Given the description of an element on the screen output the (x, y) to click on. 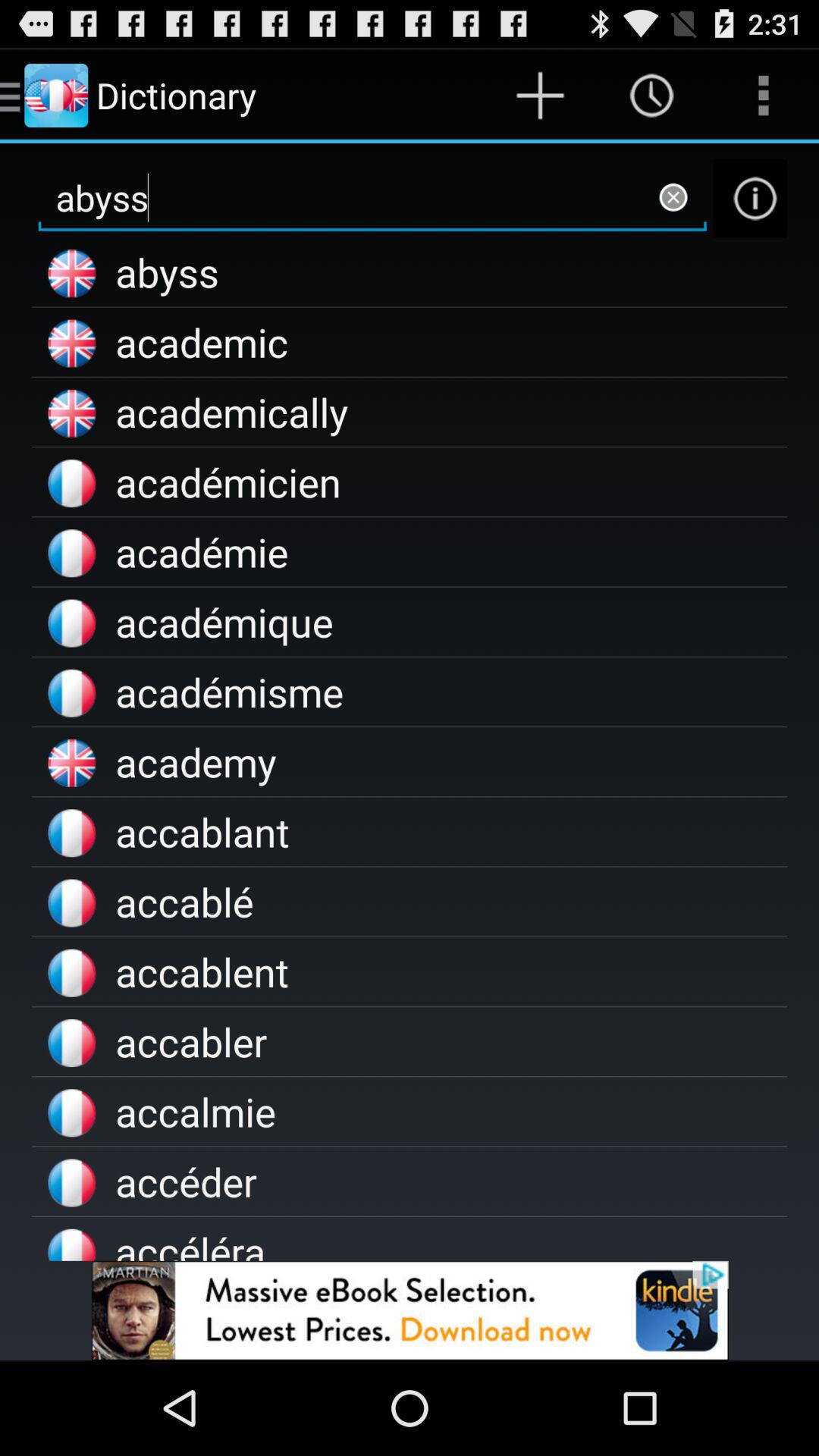
info (750, 198)
